Given the description of an element on the screen output the (x, y) to click on. 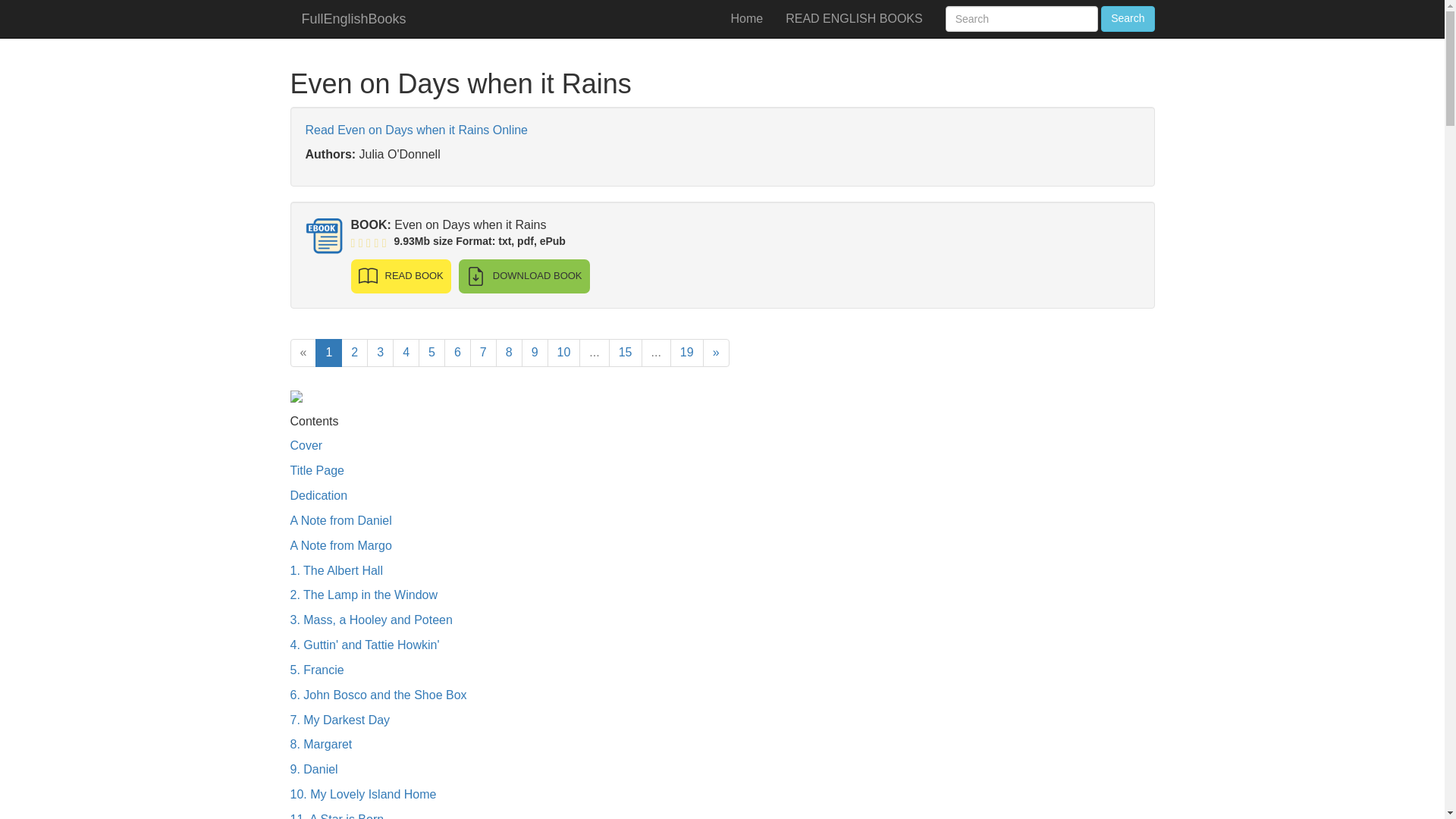
READ ENGLISH BOOKS (854, 18)
8 (509, 352)
A Note from Daniel (340, 520)
9 (534, 352)
9. Daniel (313, 768)
6 (457, 352)
5 (432, 352)
3 (379, 352)
DOWNLOAD BOOK (523, 276)
5. Francie (316, 669)
